Given the description of an element on the screen output the (x, y) to click on. 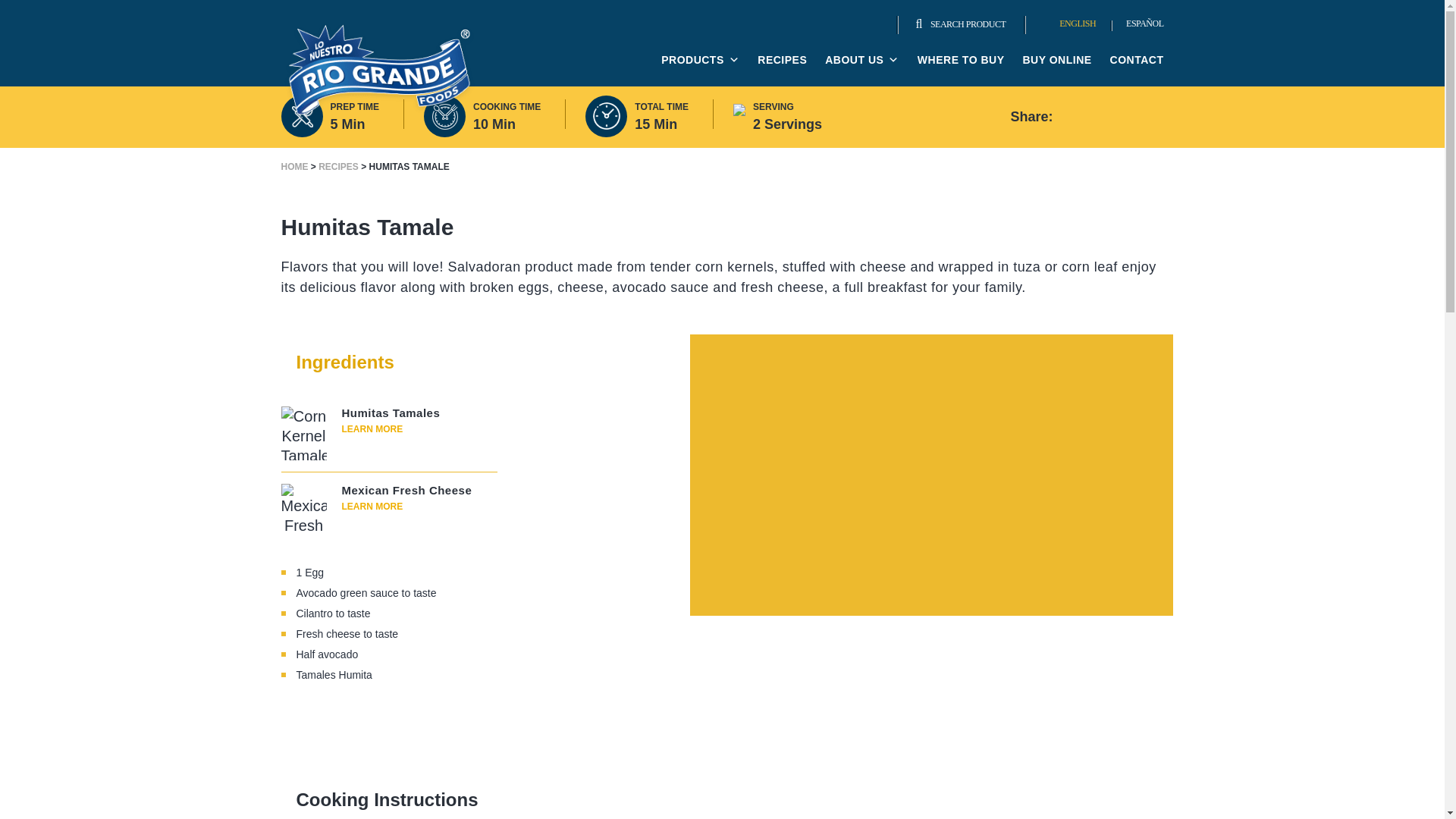
ENGLISH (1069, 24)
BUY ONLINE (1056, 60)
RECIPES (338, 166)
LEARN MORE (371, 507)
LEARN MORE (371, 429)
WHERE TO BUY (960, 60)
SEARCH PRODUCT (960, 23)
PRODUCTS (700, 60)
CONTACT (1136, 60)
ABOUT US (862, 60)
